Given the description of an element on the screen output the (x, y) to click on. 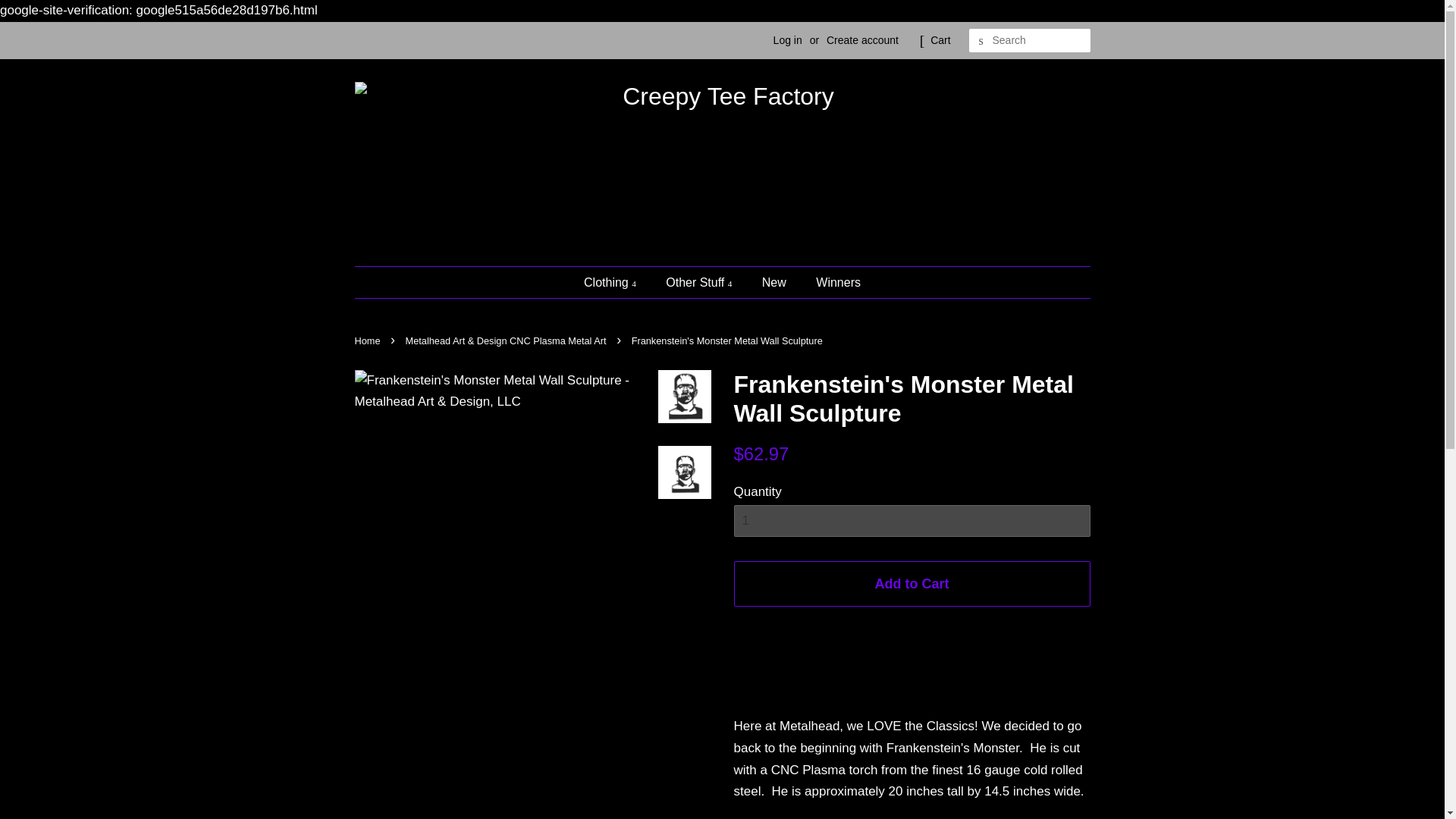
Search (980, 41)
Create account (862, 39)
1 (911, 521)
Clothing (616, 282)
Other Stuff (699, 282)
Back to the frontpage (369, 340)
Cart (940, 40)
Log in (787, 39)
